Given the description of an element on the screen output the (x, y) to click on. 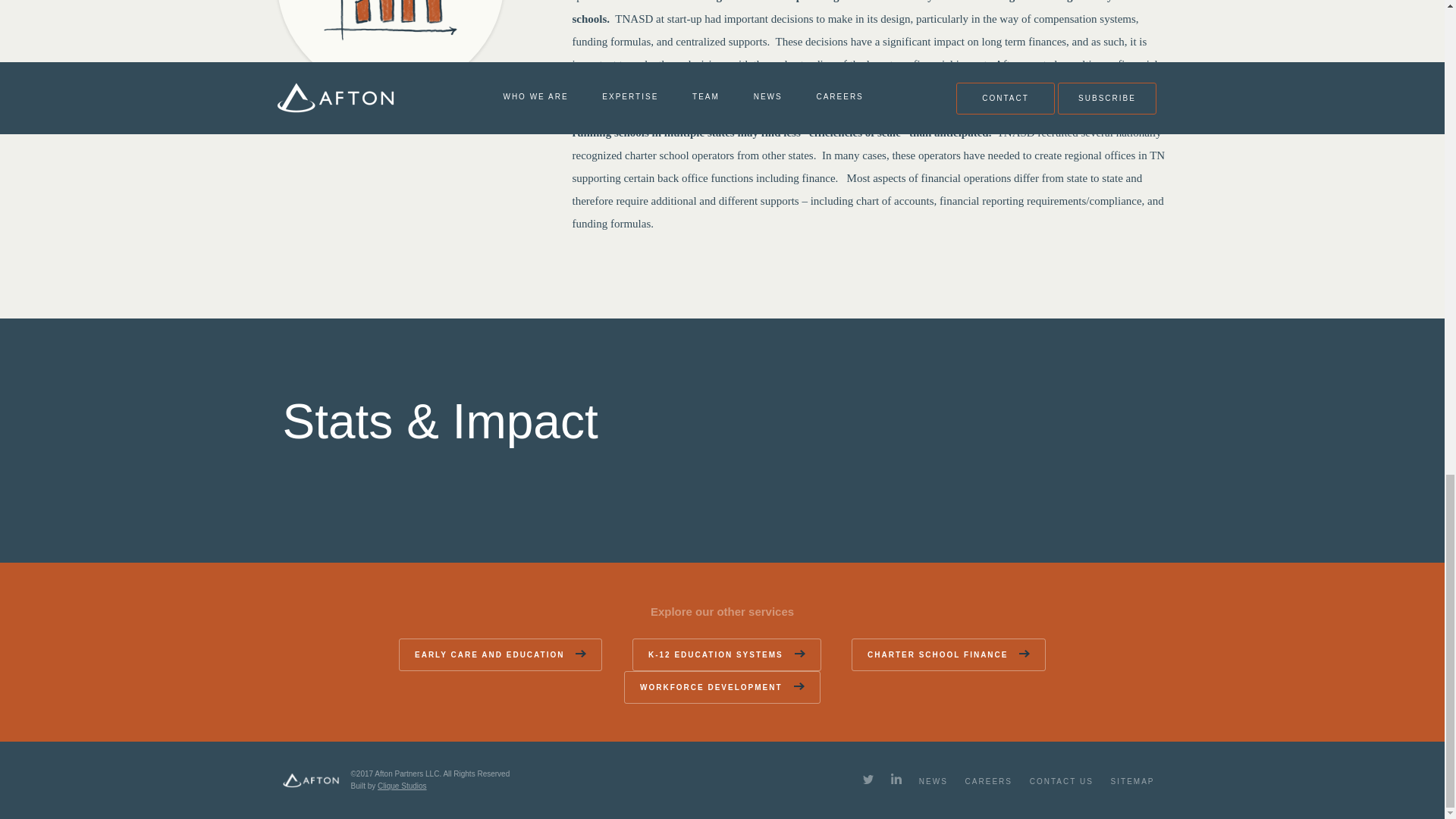
Clique Studios (401, 786)
CHARTER SCHOOL FINANCE (948, 654)
SITEMAP (1132, 780)
LINKEDIN (896, 778)
NEWS (932, 780)
CONTACT US (1061, 780)
K-12 EDUCATION SYSTEMS (726, 654)
Afton Partners LLC (310, 780)
CAREERS (988, 780)
TWITTER (868, 778)
EARLY CARE AND EDUCATION (500, 654)
WORKFORCE DEVELOPMENT (722, 686)
